Given the description of an element on the screen output the (x, y) to click on. 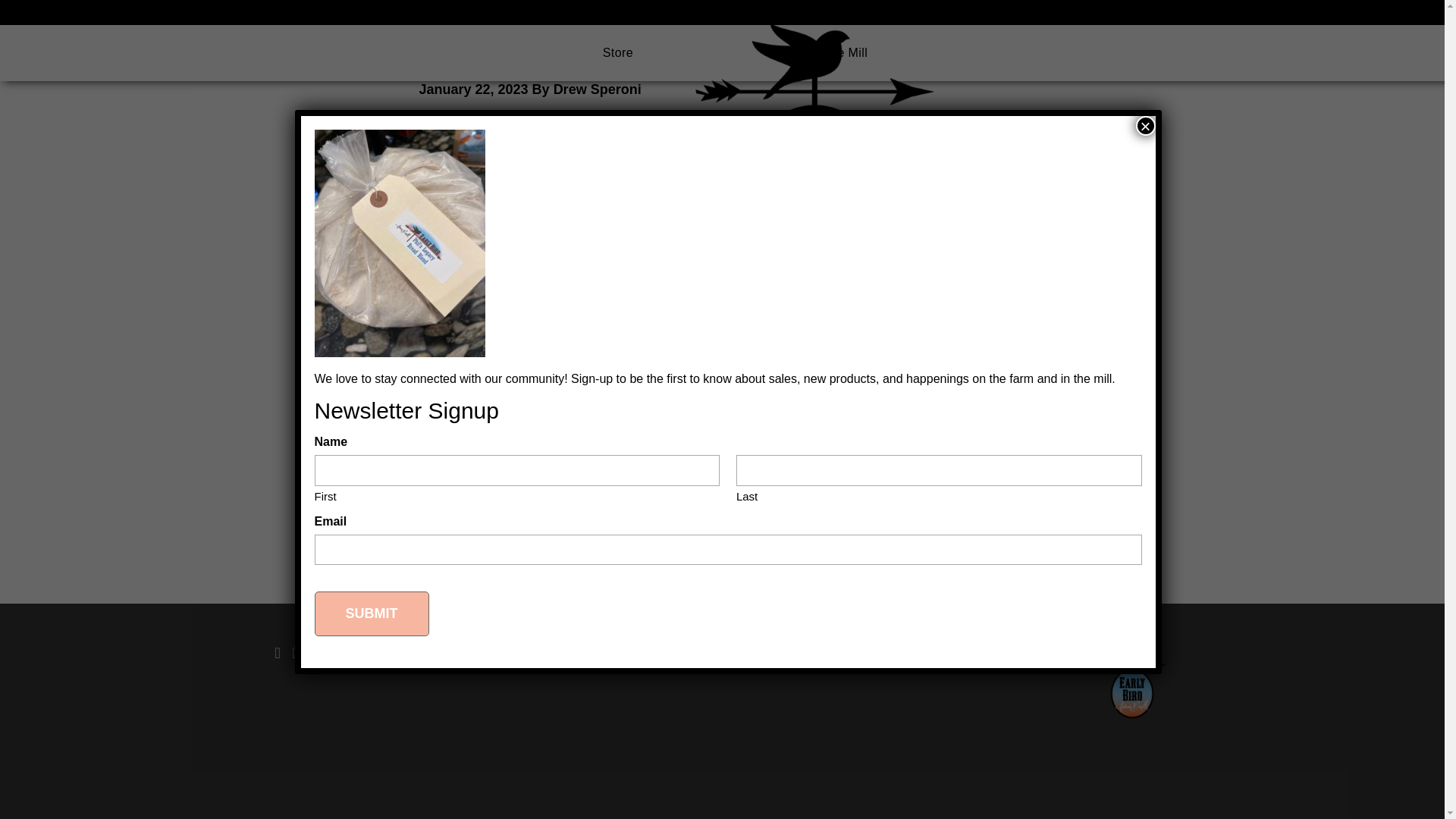
Submit (371, 509)
Submit (371, 509)
